Given the description of an element on the screen output the (x, y) to click on. 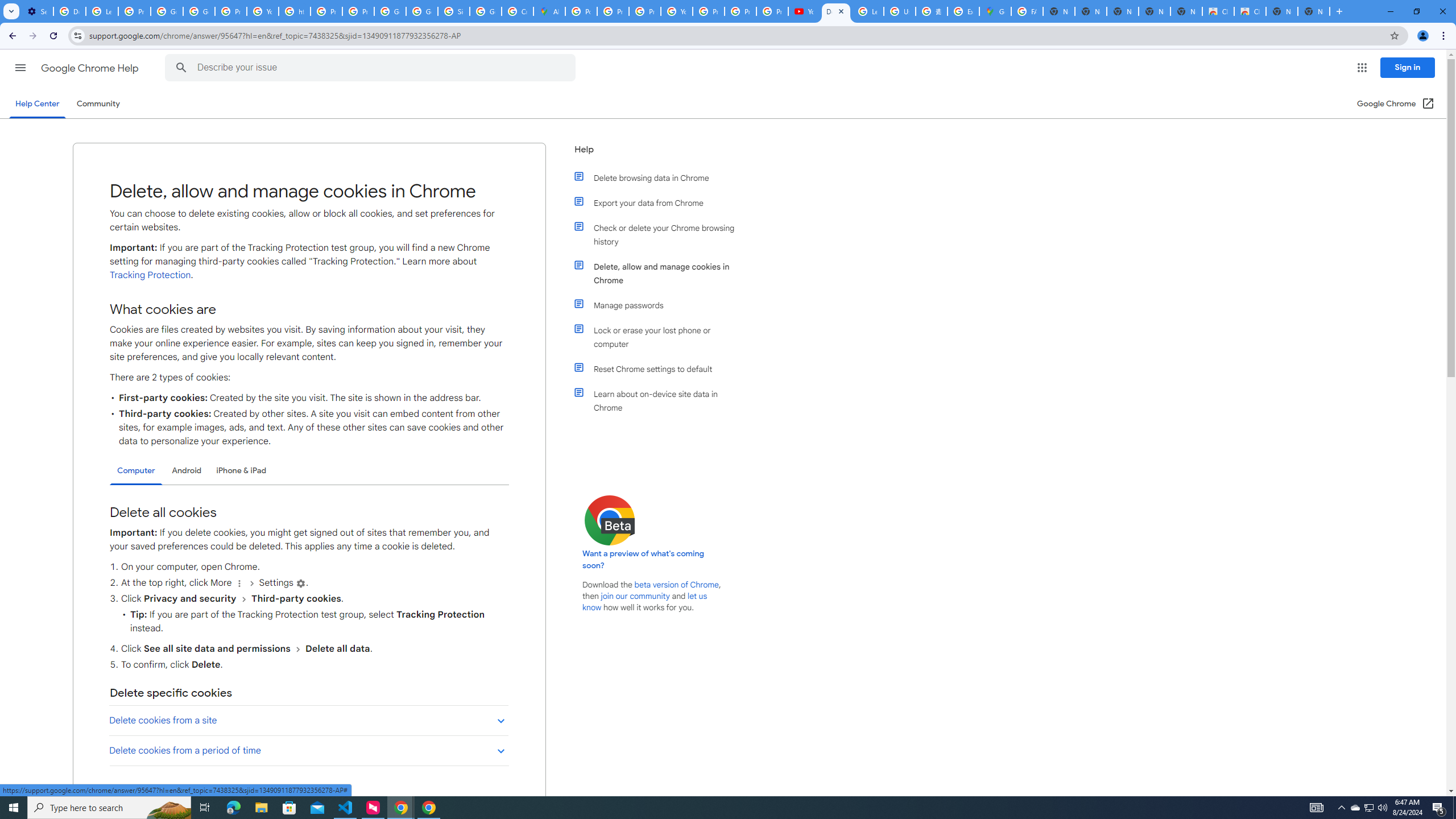
YouTube (262, 11)
Settings (301, 583)
Privacy Help Center - Policies Help (326, 11)
https://scholar.google.com/ (294, 11)
let us know (644, 601)
